Given the description of an element on the screen output the (x, y) to click on. 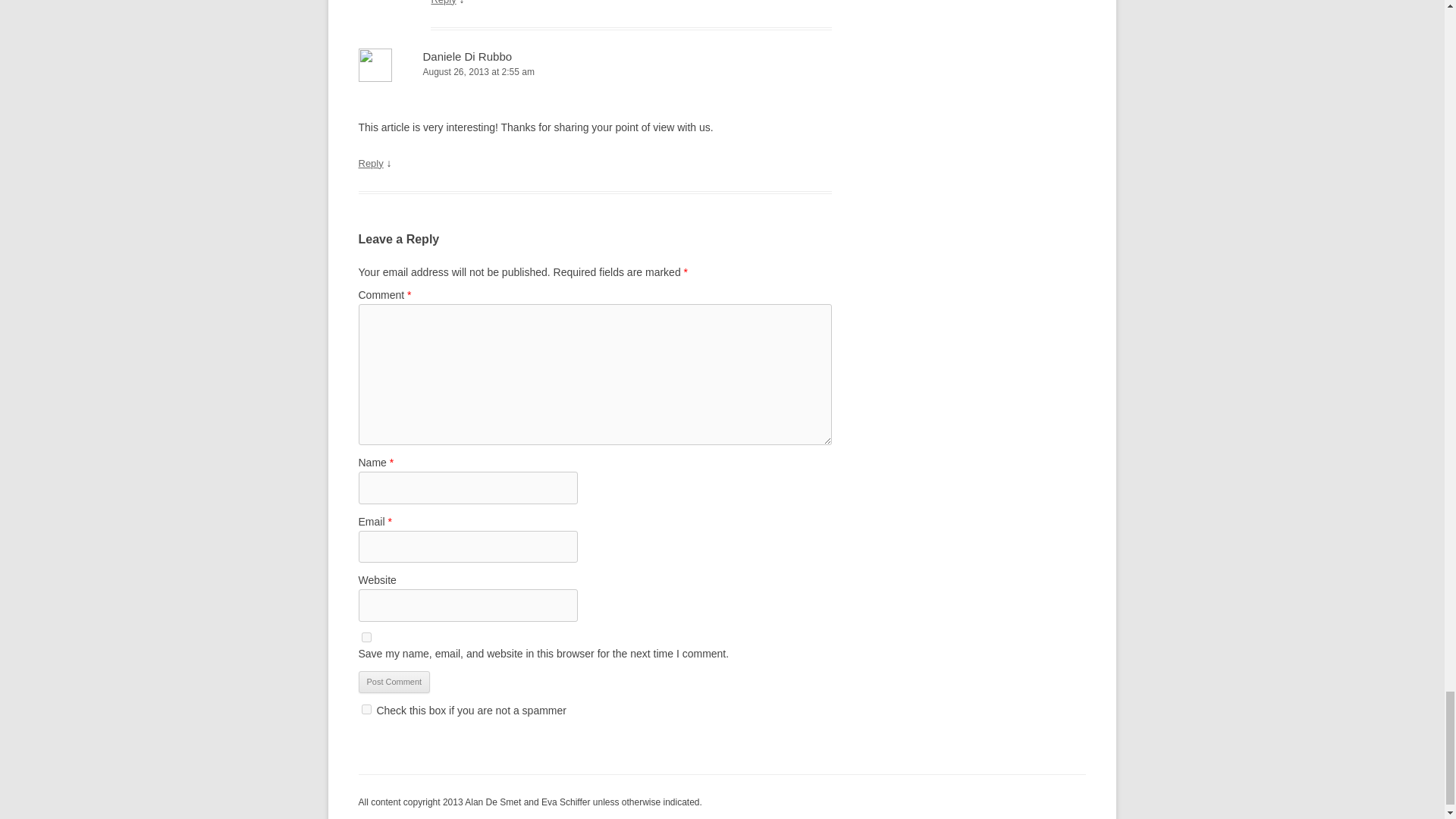
Post Comment (393, 681)
Post Comment (393, 681)
Reply (370, 163)
Daniele Di Rubbo (467, 56)
August 26, 2013 at 2:55 am (594, 72)
yes (366, 637)
Reply (442, 2)
on (366, 709)
